Given the description of an element on the screen output the (x, y) to click on. 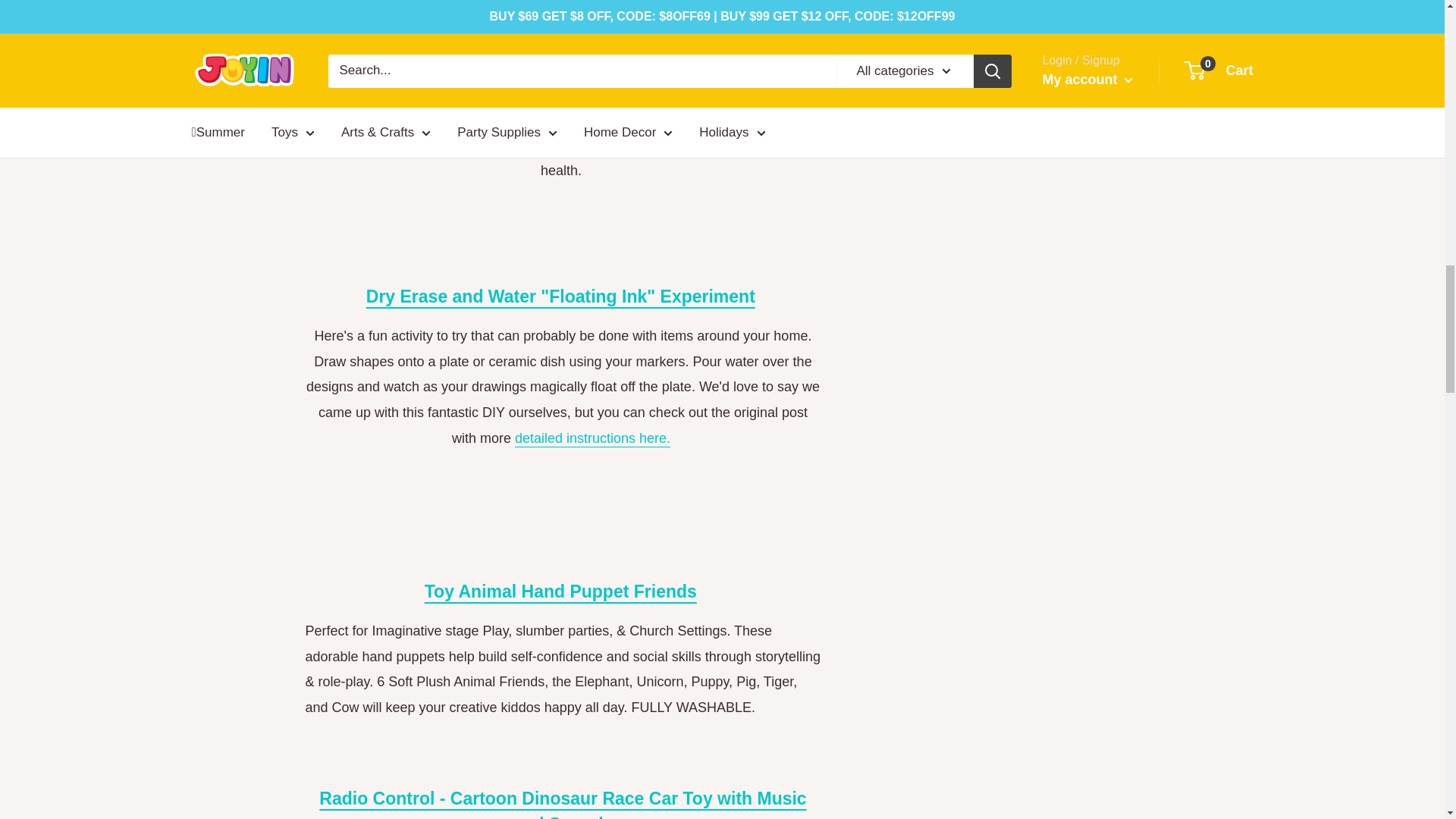
MagicDryEraseDIY (592, 437)
RADIO CONTROL DINO RACE CAR TOYS (562, 803)
